Given the description of an element on the screen output the (x, y) to click on. 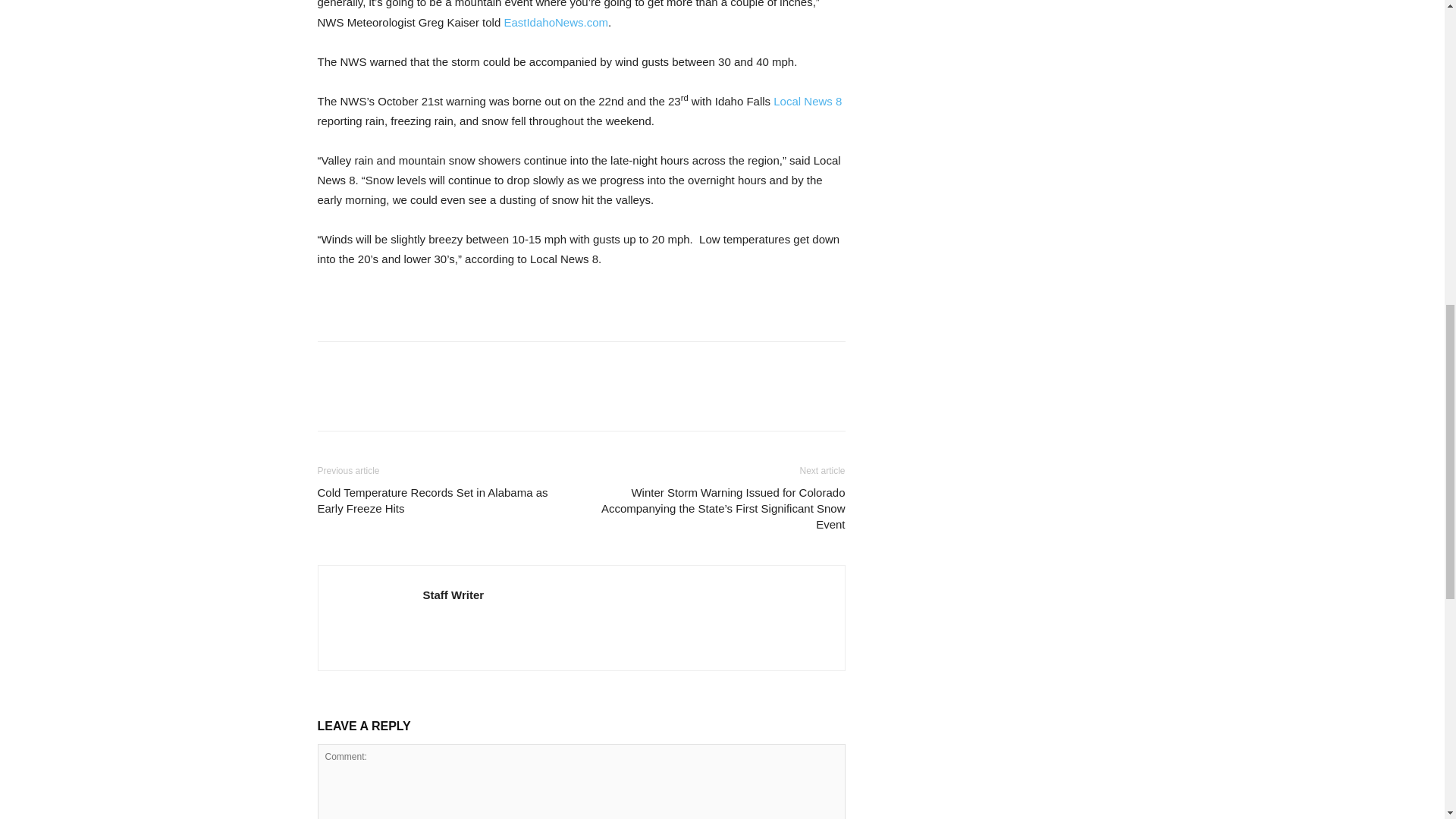
EastIdahoNews.com (555, 21)
Local News 8 (807, 101)
Staff Writer (453, 594)
Cold Temperature Records Set in Alabama as Early Freeze Hits (439, 500)
